Given the description of an element on the screen output the (x, y) to click on. 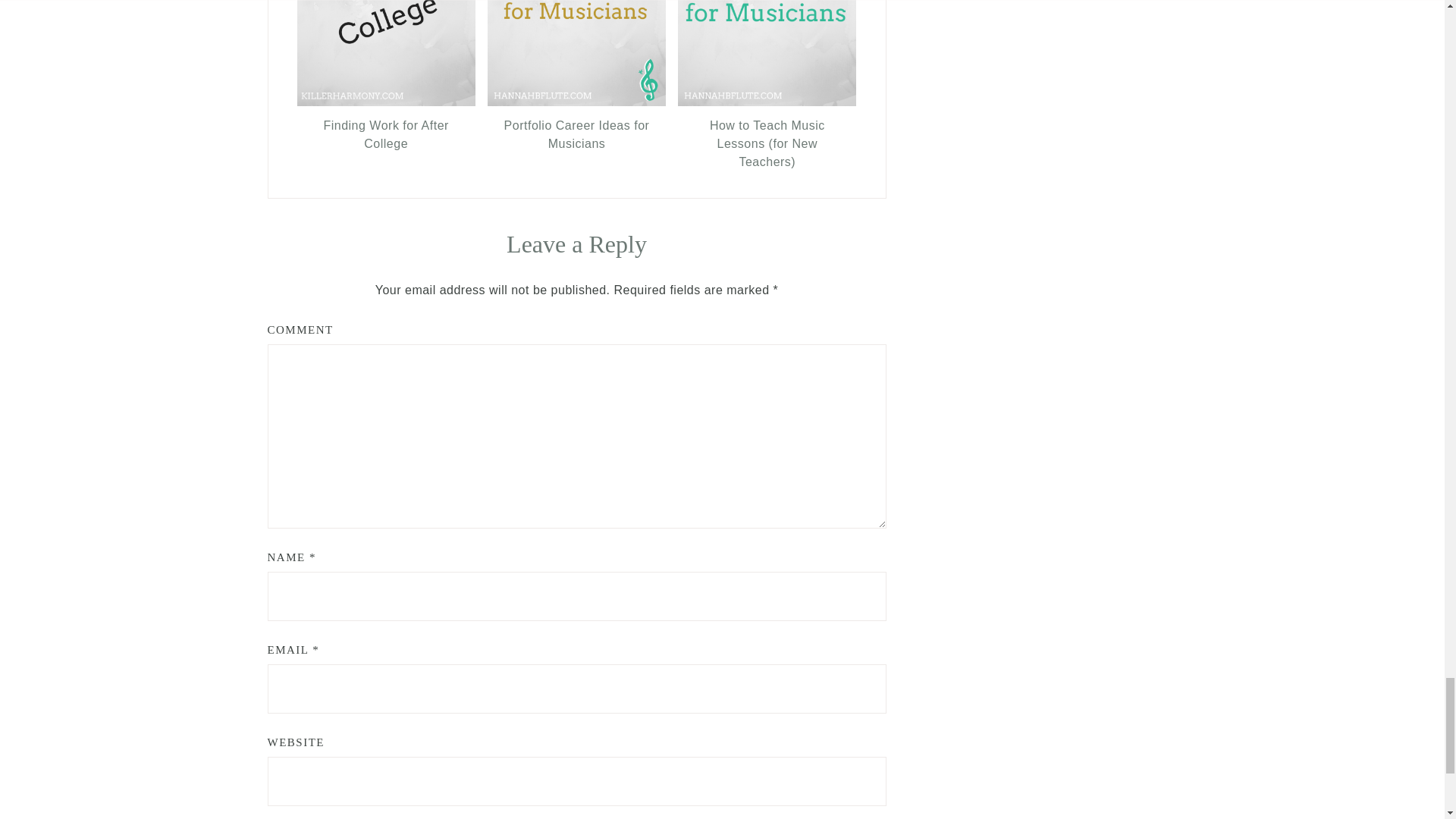
Permanent Link to Portfolio Career Ideas for Musicians (576, 135)
Permanent Link to Finding Work for After College (386, 135)
Permanent Link to Finding Work for After College (386, 101)
Portfolio Career Ideas for Musicians (576, 135)
Finding Work for After College (386, 135)
Permanent Link to Portfolio Career Ideas for Musicians (576, 101)
